Given the description of an element on the screen output the (x, y) to click on. 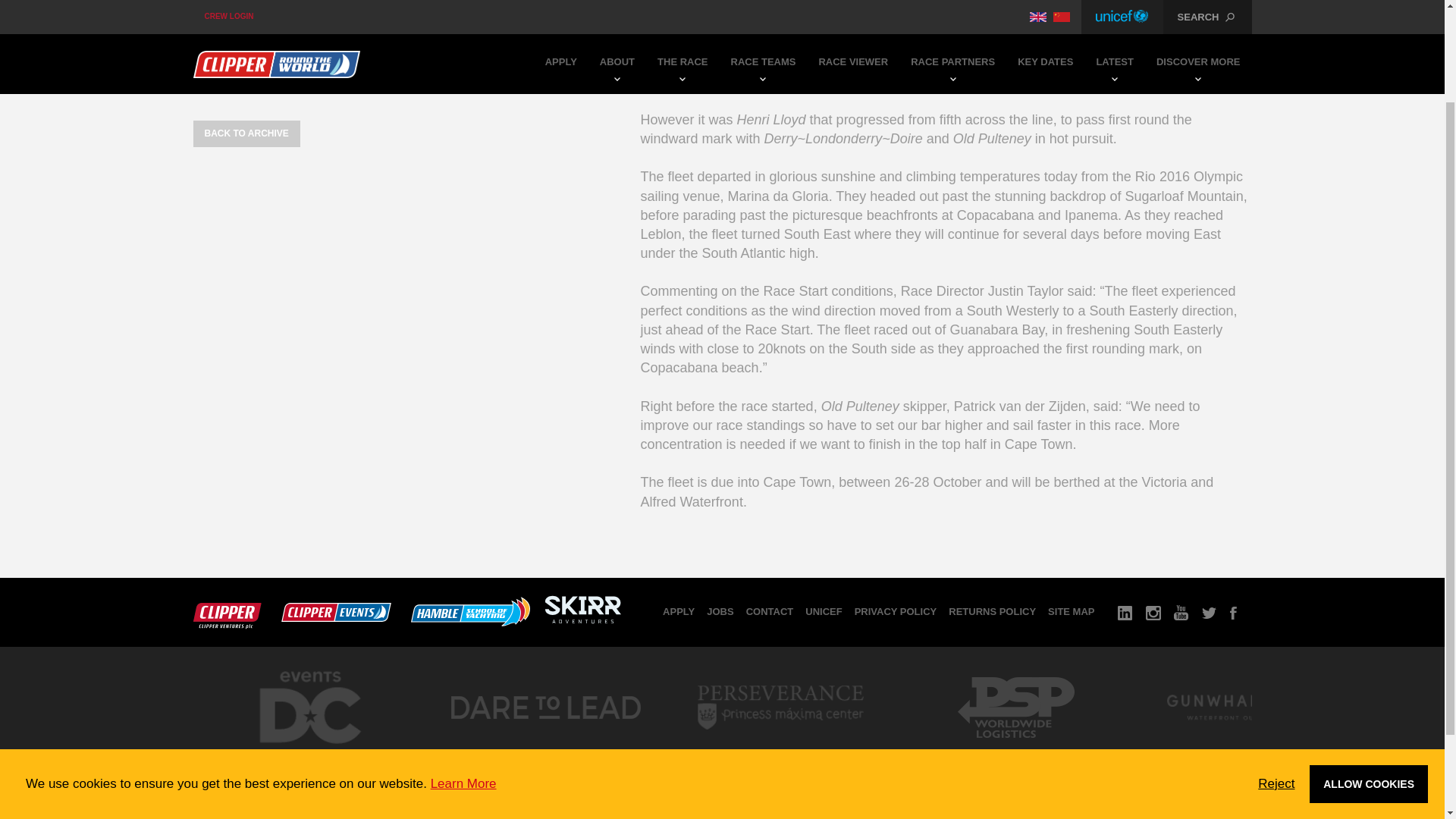
Gunwharf Quays (1250, 751)
Events DC (309, 757)
Dare To Lead (544, 751)
PSP Logistics (1014, 751)
Perseverance (780, 751)
